Given the description of an element on the screen output the (x, y) to click on. 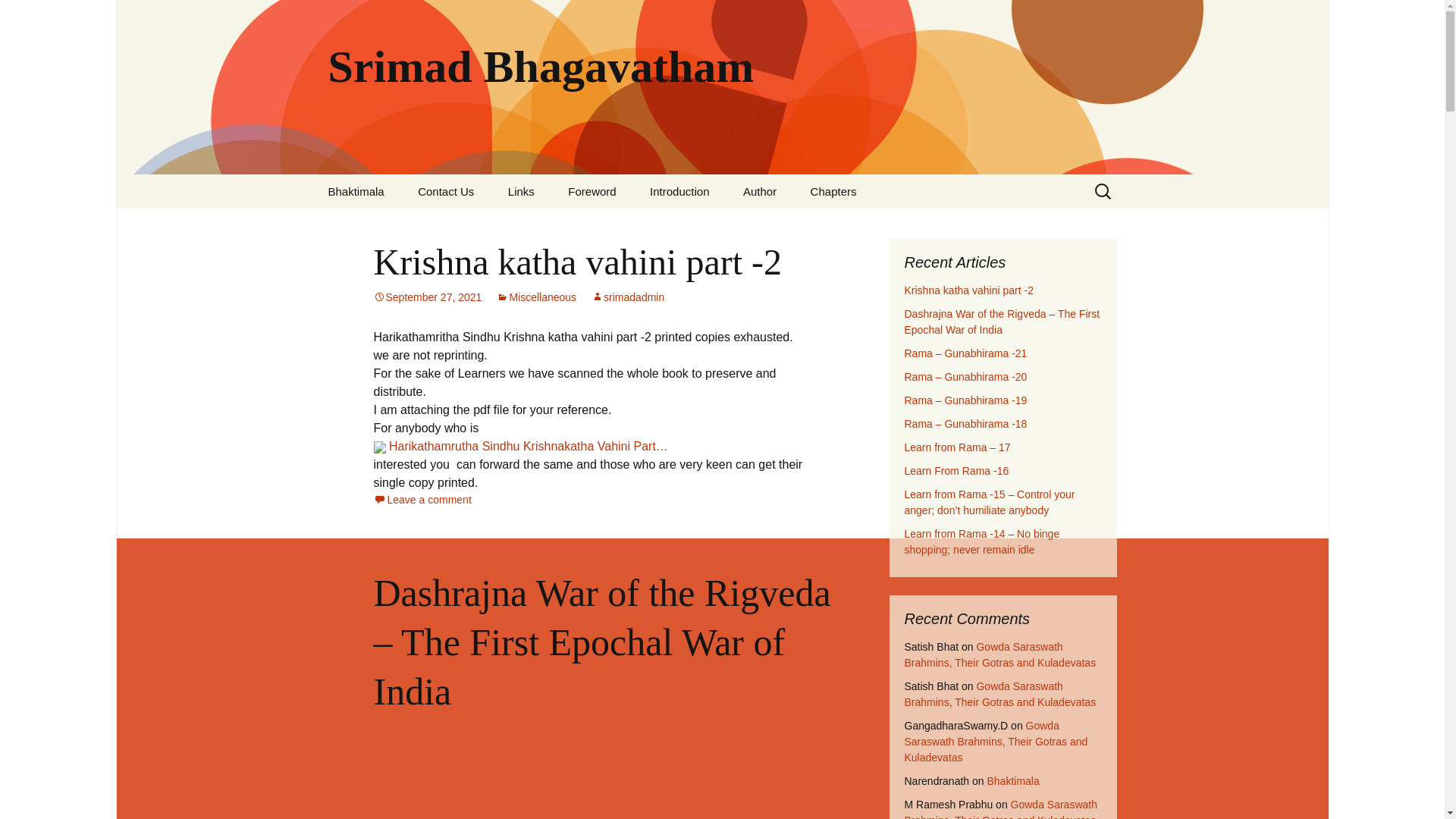
Author (760, 191)
September 27, 2021 (426, 297)
View all posts by srimadadmin (627, 297)
Permalink to Krishna katha vahini part -2 (426, 297)
Foreword (591, 191)
Search (18, 15)
Chapters (833, 191)
Miscellaneous (536, 297)
Links (521, 191)
srimadadmin (627, 297)
Contact Us (446, 191)
